Given the description of an element on the screen output the (x, y) to click on. 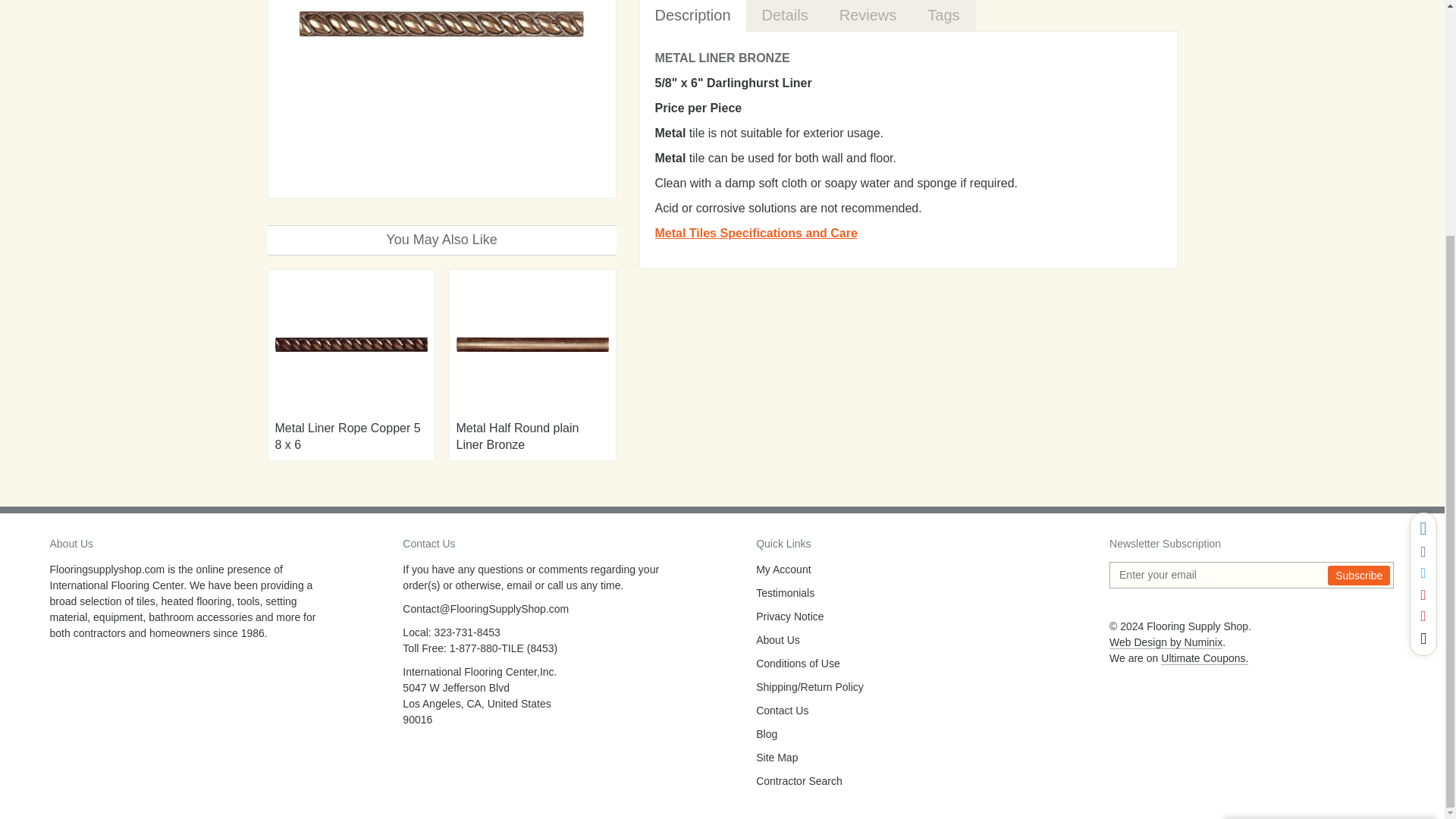
Flooring Supply Shop coupons (1203, 658)
